Given the description of an element on the screen output the (x, y) to click on. 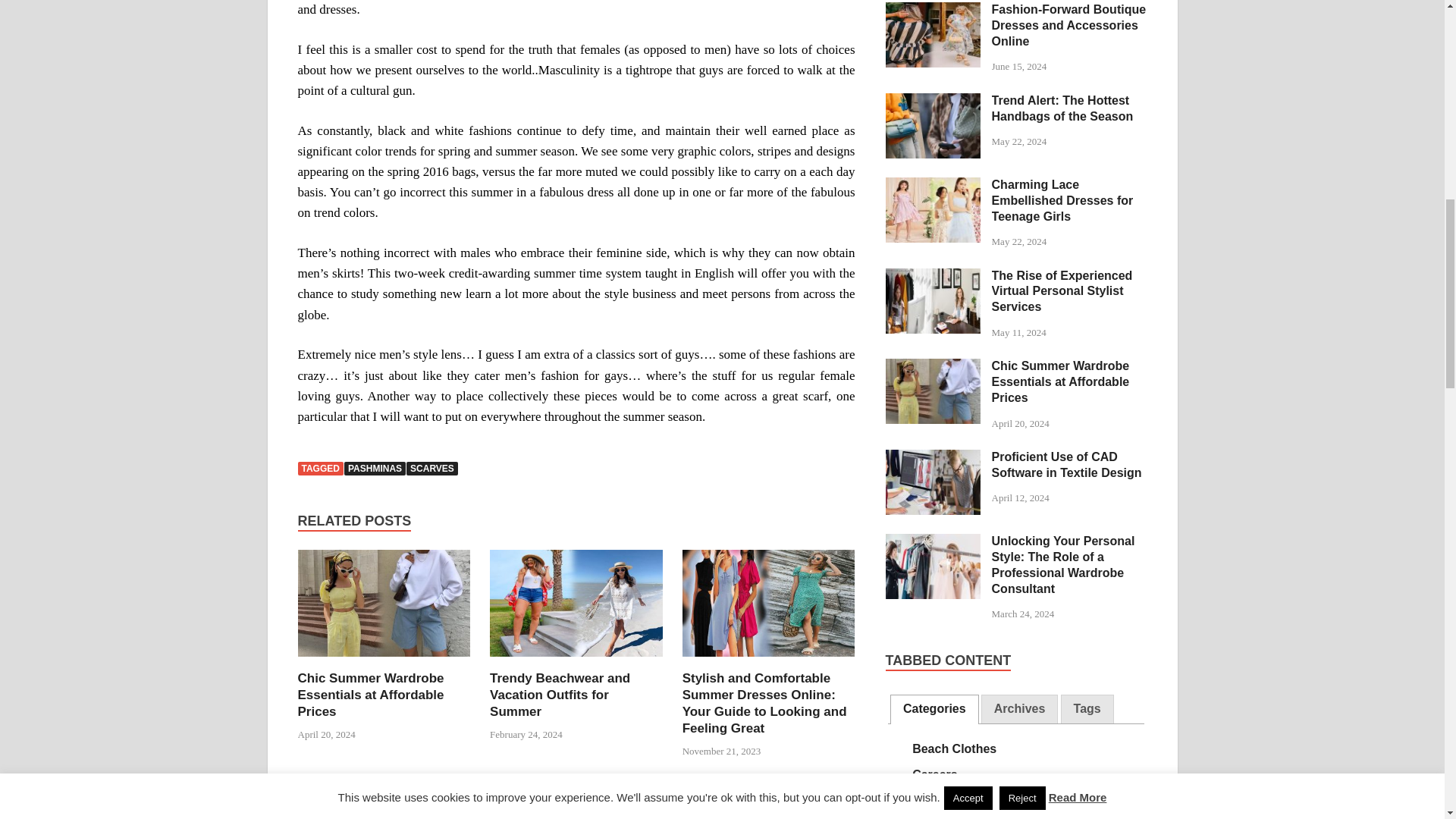
Chic Summer Wardrobe Essentials at Affordable Prices (932, 367)
Trendy Beachwear and Vacation Outfits for Summer (575, 660)
Trend Alert: The Hottest Handbags of the Season (932, 101)
Chic Summer Wardrobe Essentials at Affordable Prices (370, 694)
Fashion-Forward Boutique Dresses and Accessories Online (932, 10)
Trendy Beachwear and Vacation Outfits for Summer (559, 694)
Chic Summer Wardrobe Essentials at Affordable Prices (383, 660)
The Rise of Experienced Virtual Personal Stylist Services (932, 277)
Proficient Use of CAD Software in Textile Design (932, 458)
Charming Lace Embellished Dresses for Teenage Girls (932, 185)
